Given the description of an element on the screen output the (x, y) to click on. 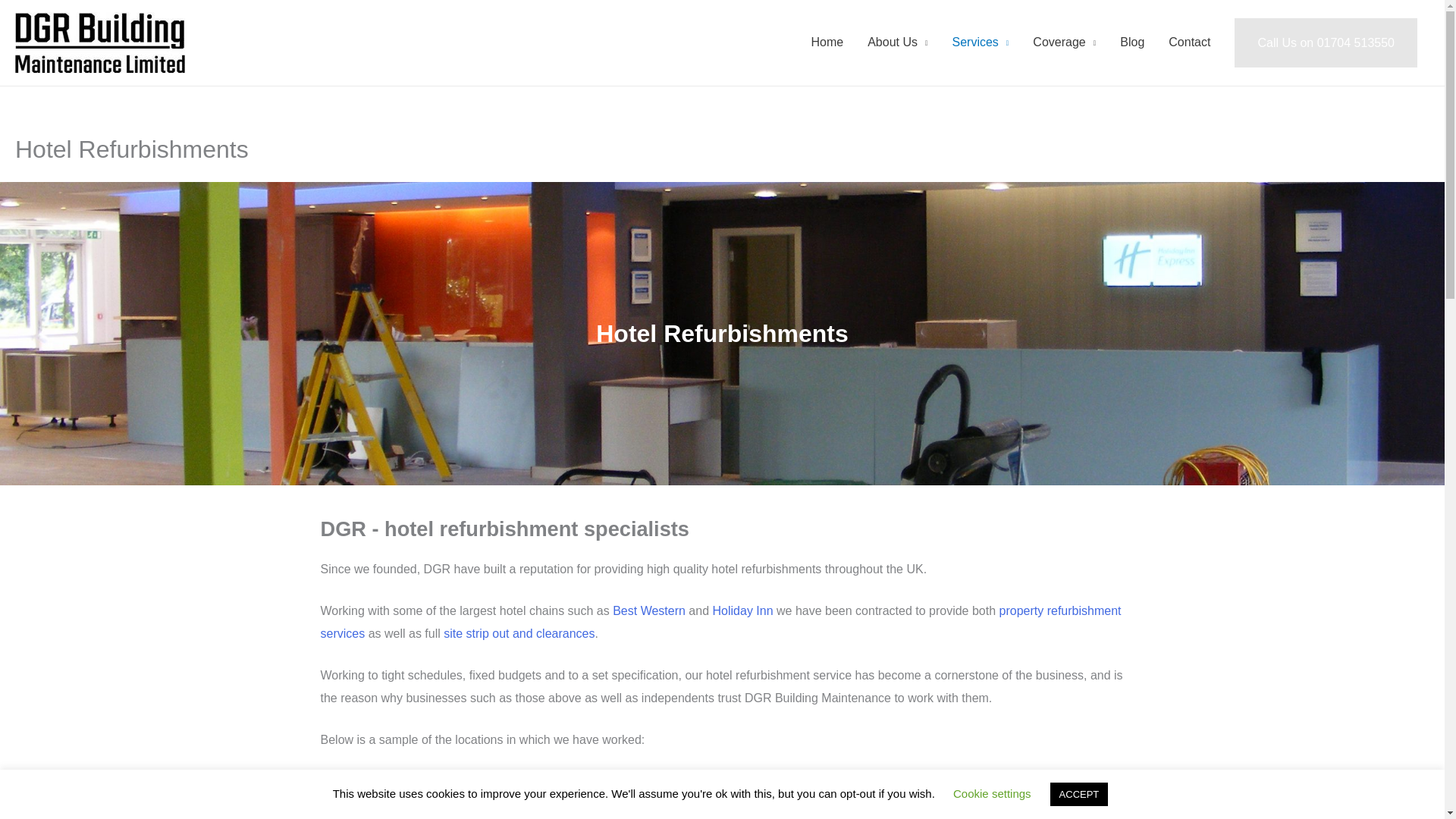
Coverage (1064, 42)
About Us (897, 42)
property refurbishment services (720, 621)
Services (979, 42)
site strip out and clearances (519, 633)
Best Western (648, 610)
Contact (1189, 42)
Home (826, 42)
Holiday Inn (743, 610)
Call Us on 01704 513550 (1325, 42)
Blog (1132, 42)
